Given the description of an element on the screen output the (x, y) to click on. 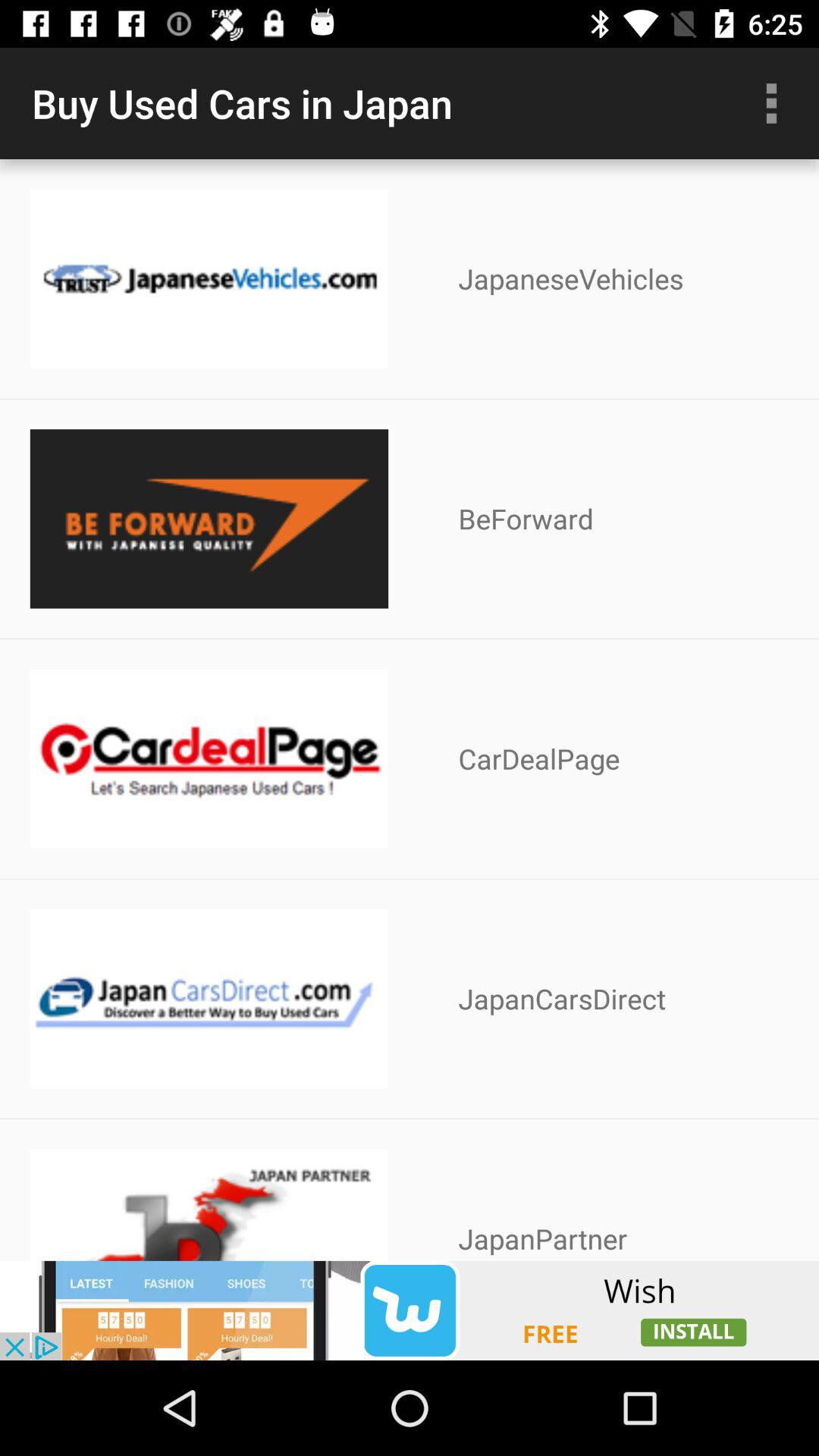
advertisement page (409, 1310)
